Given the description of an element on the screen output the (x, y) to click on. 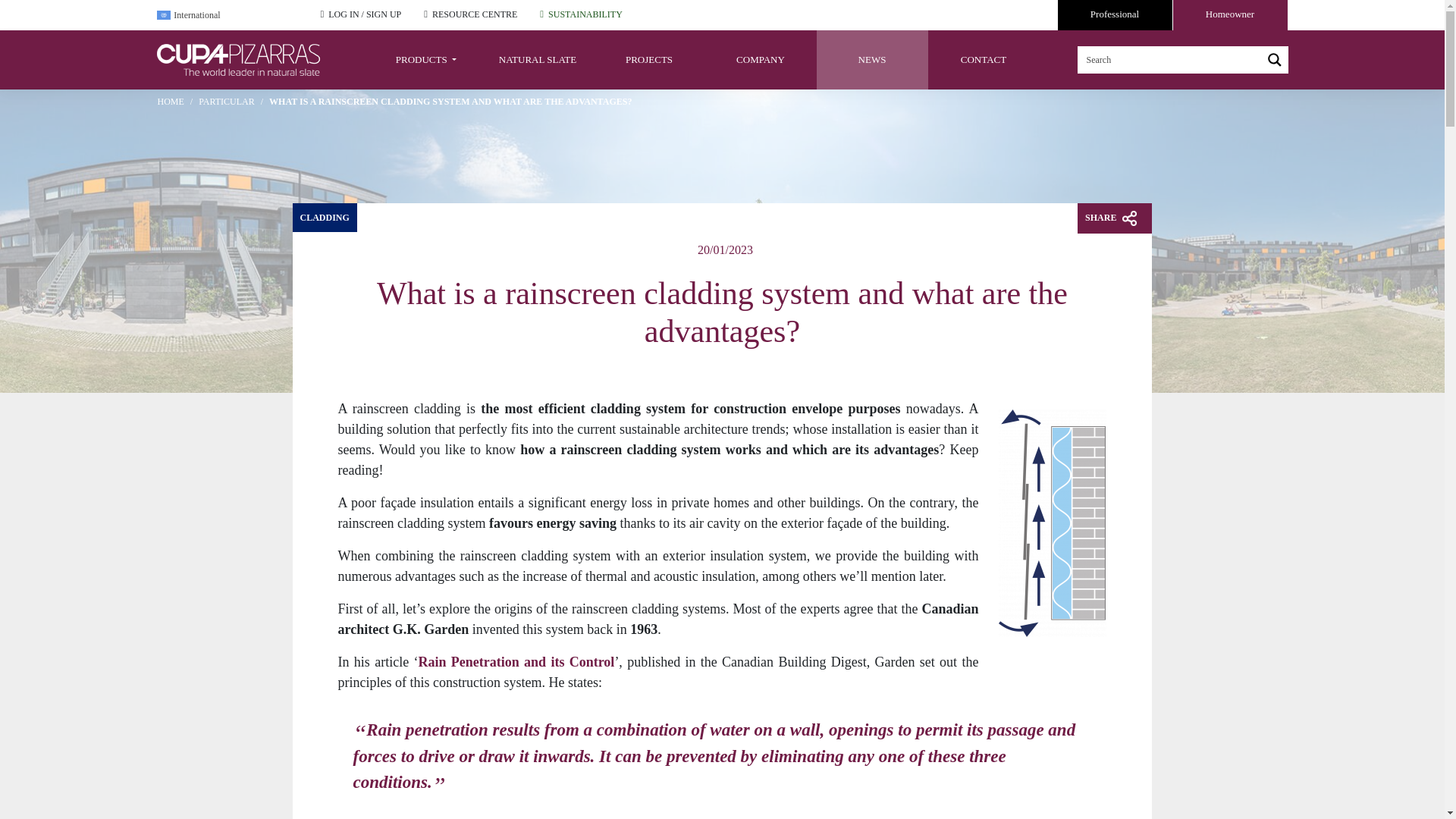
COMPANY (760, 59)
Professional (1114, 15)
PROJECTS (648, 59)
COMPANY (760, 59)
RESOURCE CENTRE (474, 14)
NATURAL SLATE (537, 59)
PROJECTS (648, 59)
Homeowner (1229, 15)
PRODUCTS (425, 59)
NATURAL SLATE (537, 59)
PRODUCTS (425, 59)
International (226, 15)
SUSTAINABILITY (585, 14)
